Given the description of an element on the screen output the (x, y) to click on. 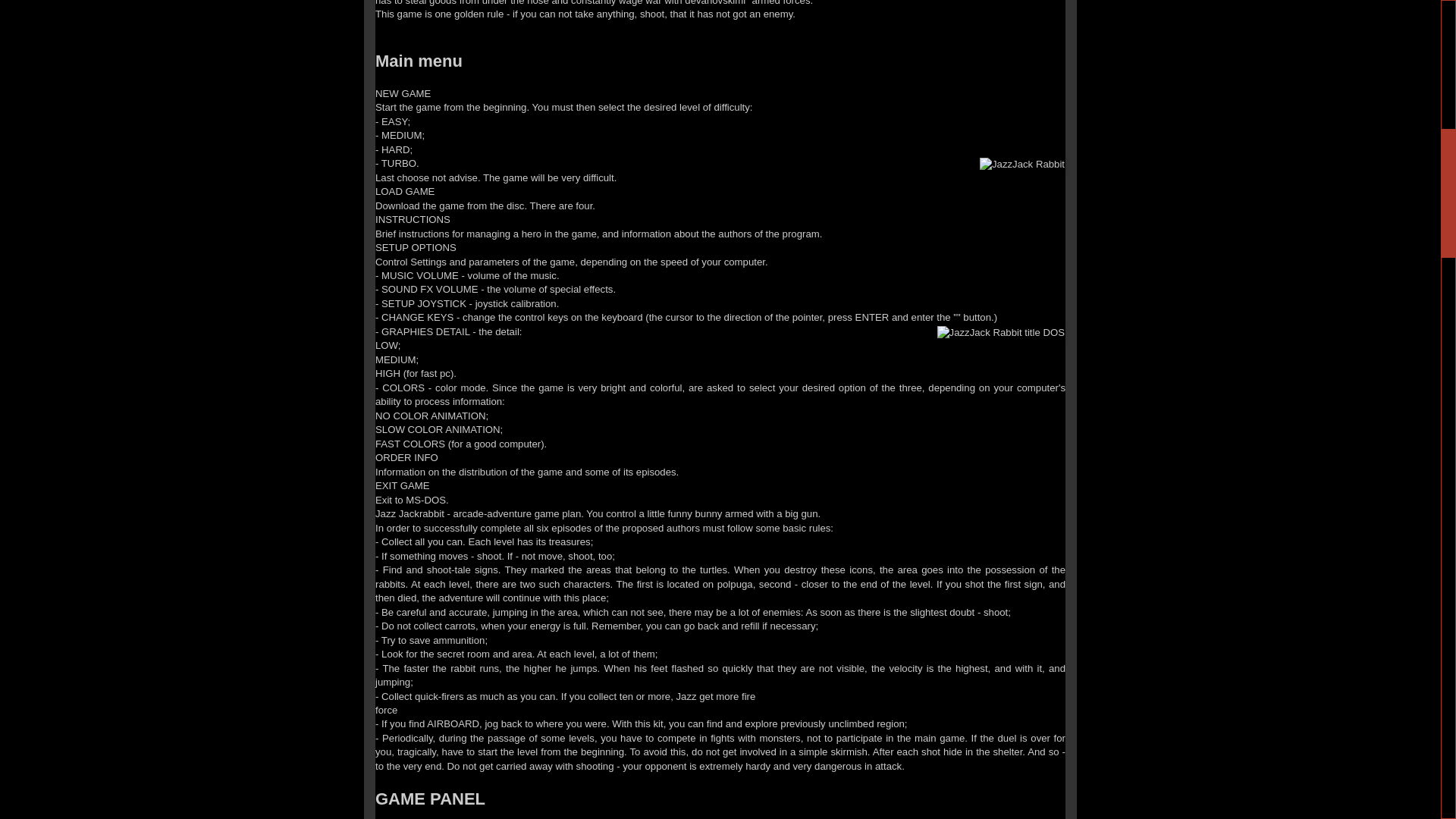
JazzJack Rabbit (1021, 164)
JazzJack Rabbit title DOS (1000, 332)
